Given the description of an element on the screen output the (x, y) to click on. 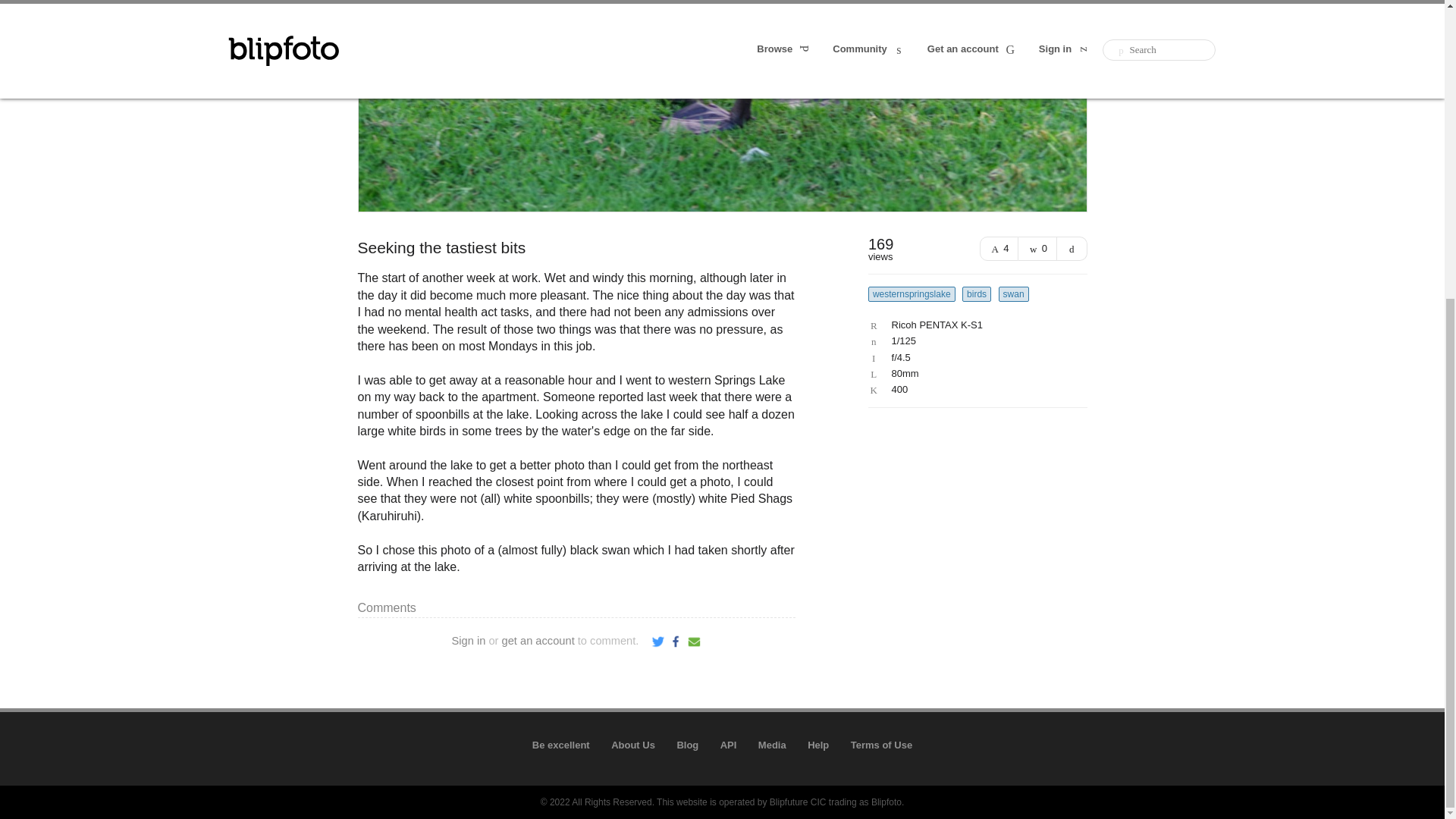
Blog (687, 745)
F-Stop (973, 357)
Terms of Use (881, 745)
Media (772, 745)
Camera (973, 325)
Show large (1072, 248)
ISO (973, 389)
swan (1013, 294)
Focal length (973, 373)
get an account (538, 640)
